Given the description of an element on the screen output the (x, y) to click on. 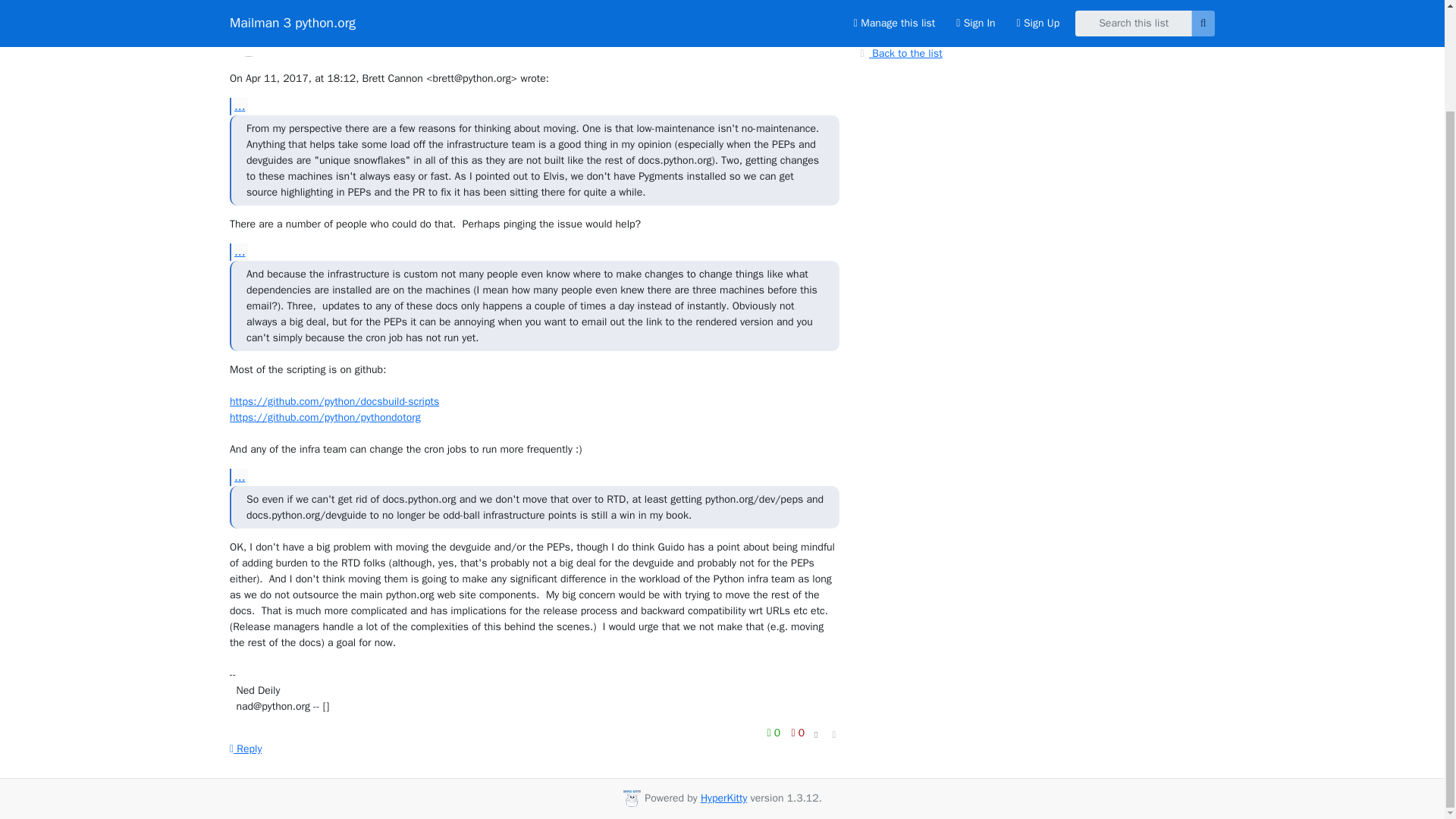
You must be logged-in to vote. (797, 732)
... (238, 477)
... (238, 106)
... (238, 252)
Back to the thread (907, 26)
You must be logged-in to vote. (774, 732)
Back to the list (899, 51)
0 (774, 732)
Reply (246, 748)
HyperKitty (724, 797)
0 (797, 732)
Sender's time: April 11, 2017, 8:18 p.m. (813, 27)
Reply (246, 748)
Ned Deily (300, 36)
See the profile for Ned Deily (300, 36)
